Given the description of an element on the screen output the (x, y) to click on. 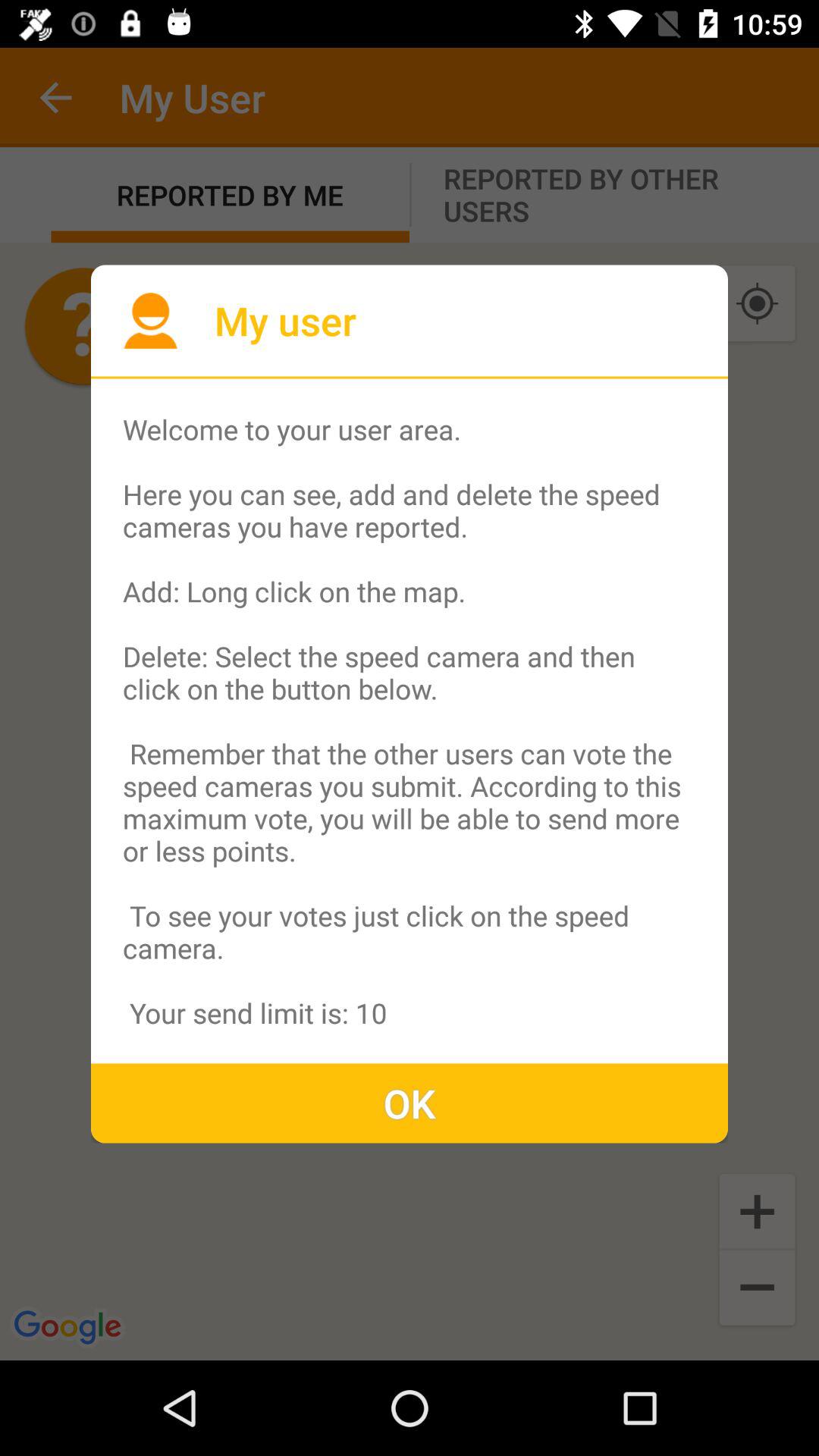
turn off app to the left of my user app (150, 320)
